Given the description of an element on the screen output the (x, y) to click on. 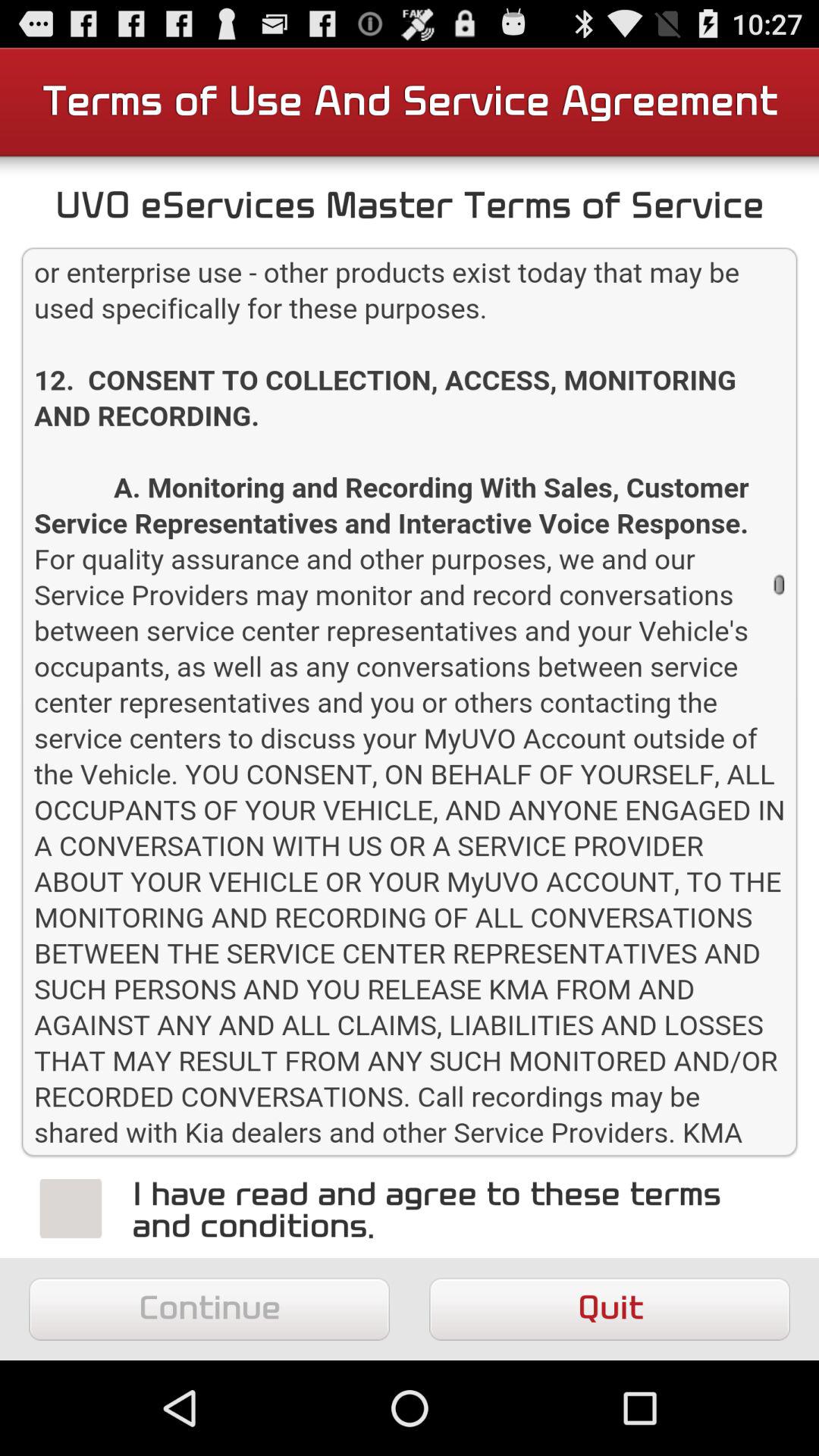
icon button (70, 1208)
